Given the description of an element on the screen output the (x, y) to click on. 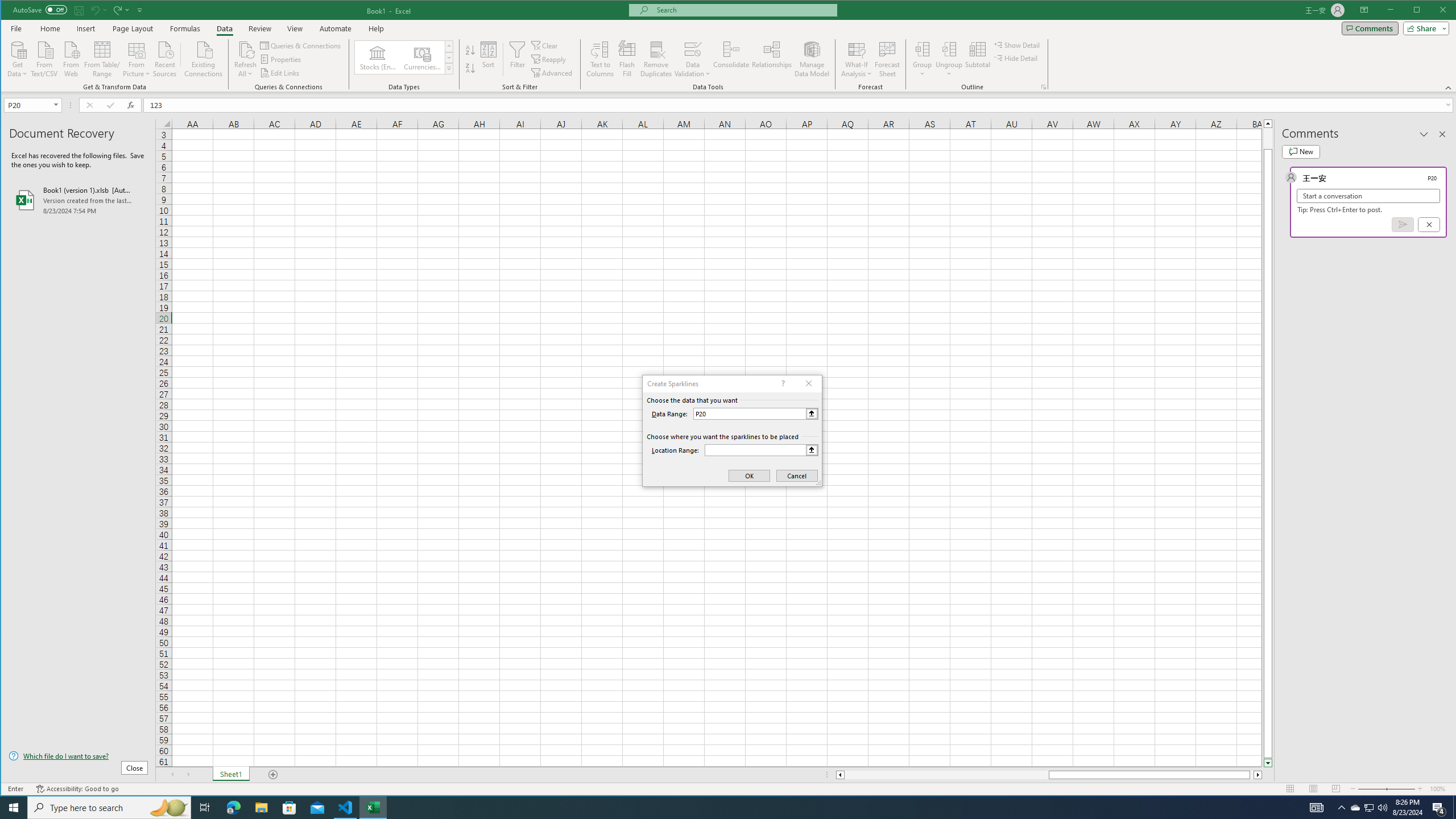
Manage Data Model (812, 59)
Relationships (772, 59)
